Given the description of an element on the screen output the (x, y) to click on. 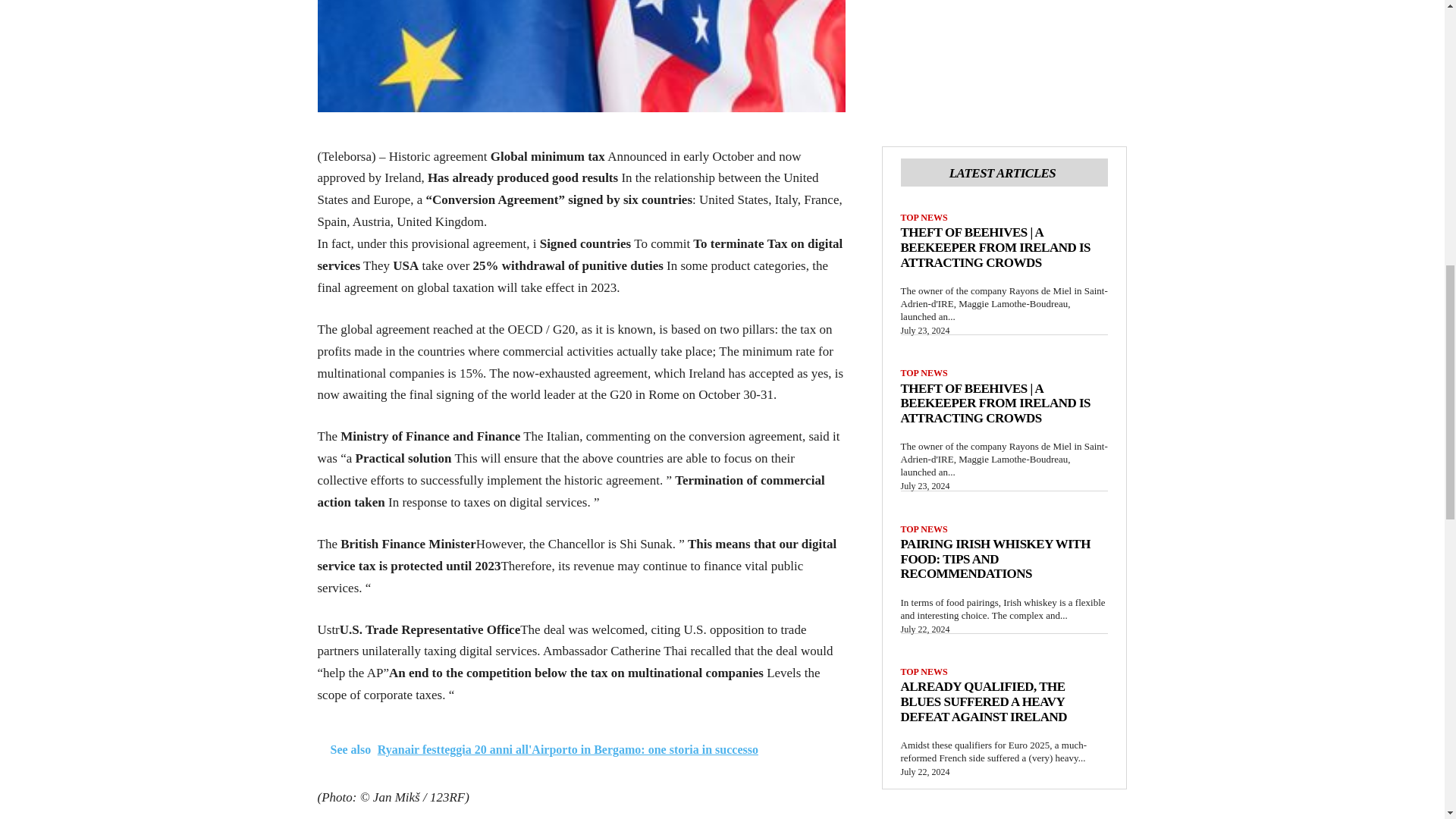
TOP NEWS (924, 671)
The global tax and conversion agreement convinces the US to (580, 56)
TOP NEWS (924, 529)
TOP NEWS (924, 372)
Pairing Irish Whiskey with Food: Tips and Recommendations (995, 558)
PAIRING IRISH WHISKEY WITH FOOD: TIPS AND RECOMMENDATIONS (995, 558)
TOP NEWS (924, 217)
